Given the description of an element on the screen output the (x, y) to click on. 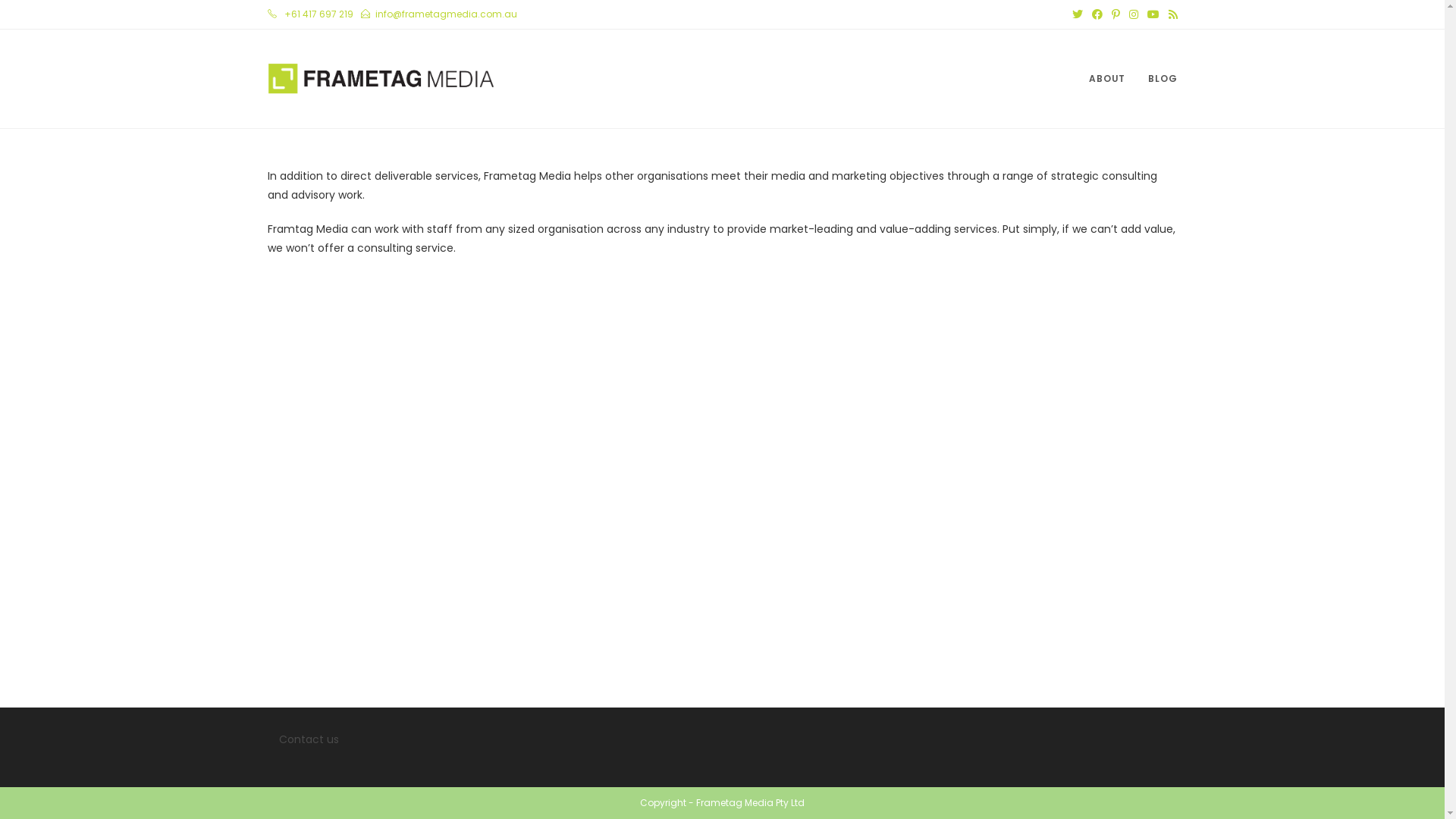
ABOUT Element type: text (1106, 78)
BLOG Element type: text (1162, 78)
